Given the description of an element on the screen output the (x, y) to click on. 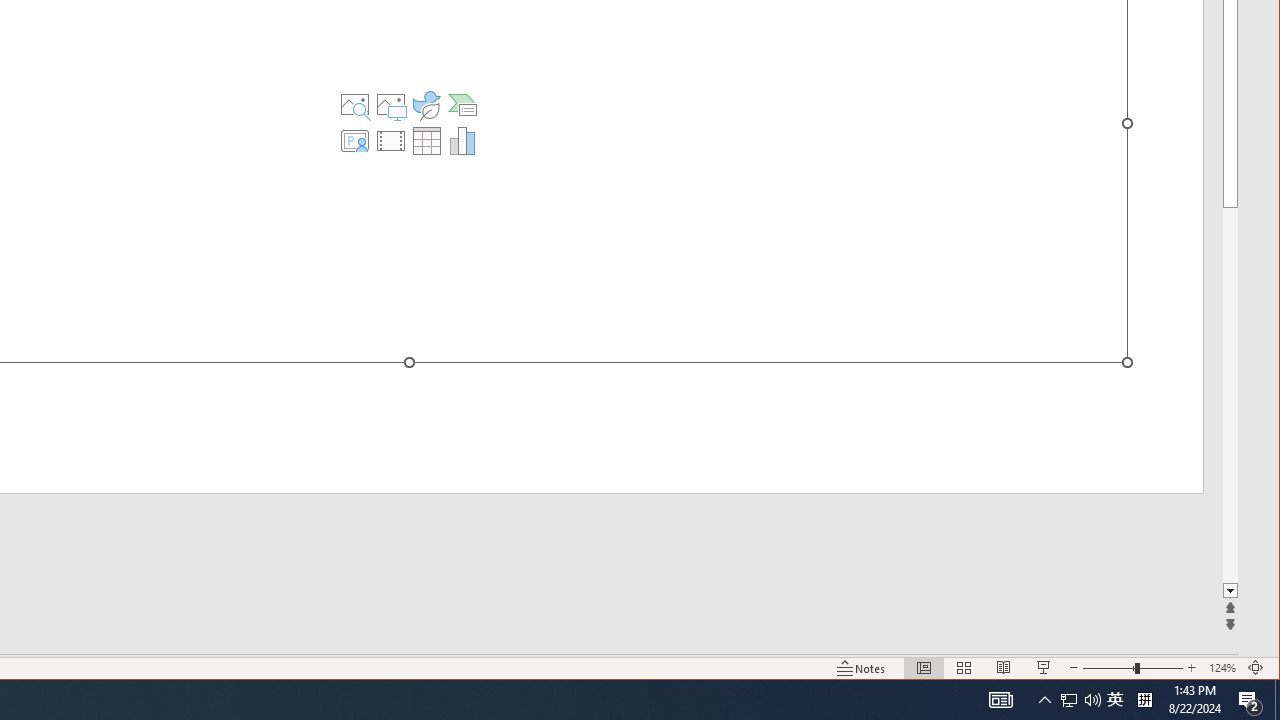
Insert Cameo (355, 140)
Insert Video (391, 140)
Zoom 124% (1222, 668)
